Given the description of an element on the screen output the (x, y) to click on. 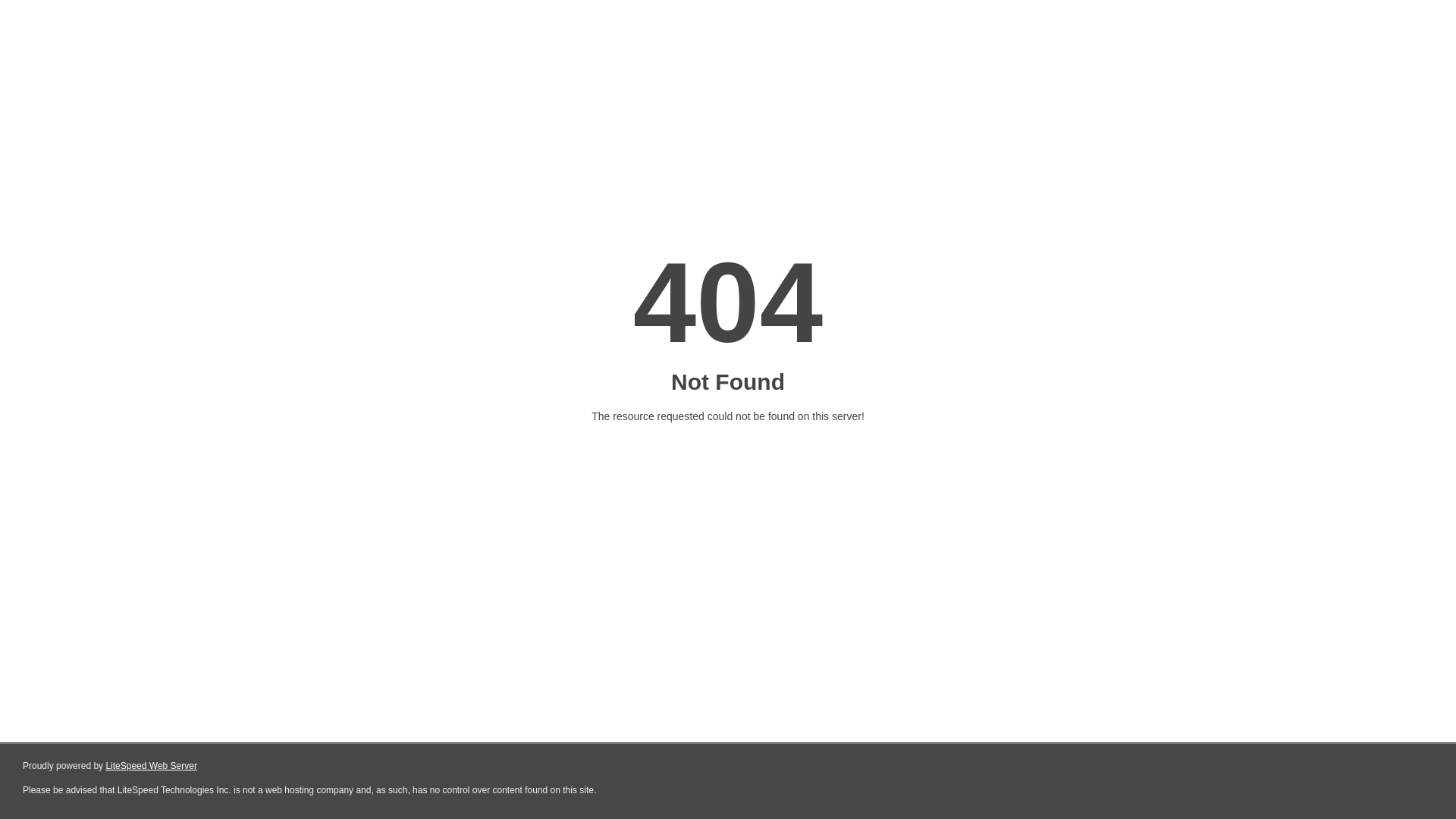
LiteSpeed Web Server Element type: text (151, 765)
